Given the description of an element on the screen output the (x, y) to click on. 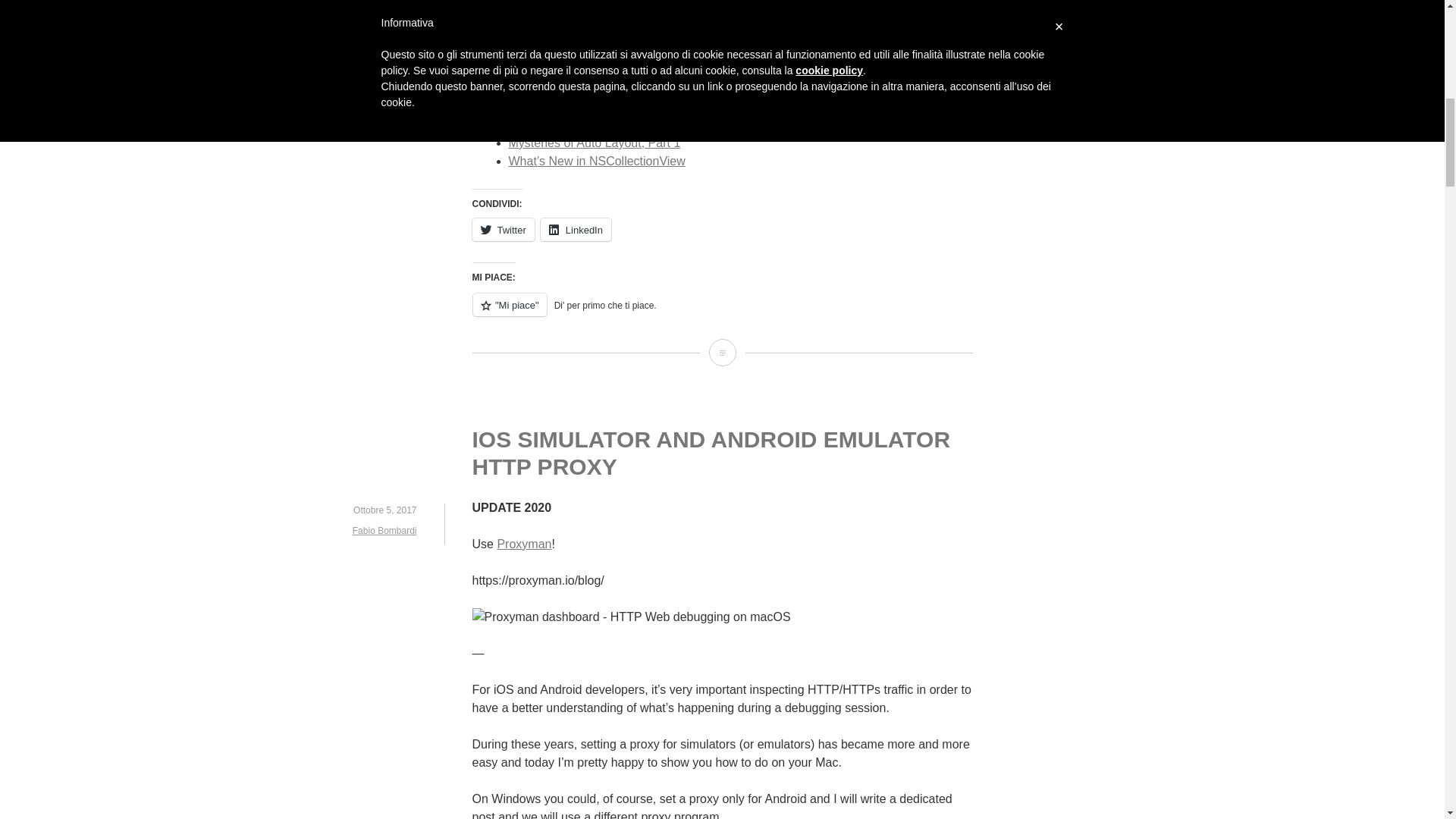
Fai clic qui per condividere su Twitter (502, 229)
Fai clic qui per condividere su LinkedIn (575, 229)
Metti Mi piace o ripubblica (721, 313)
